Given the description of an element on the screen output the (x, y) to click on. 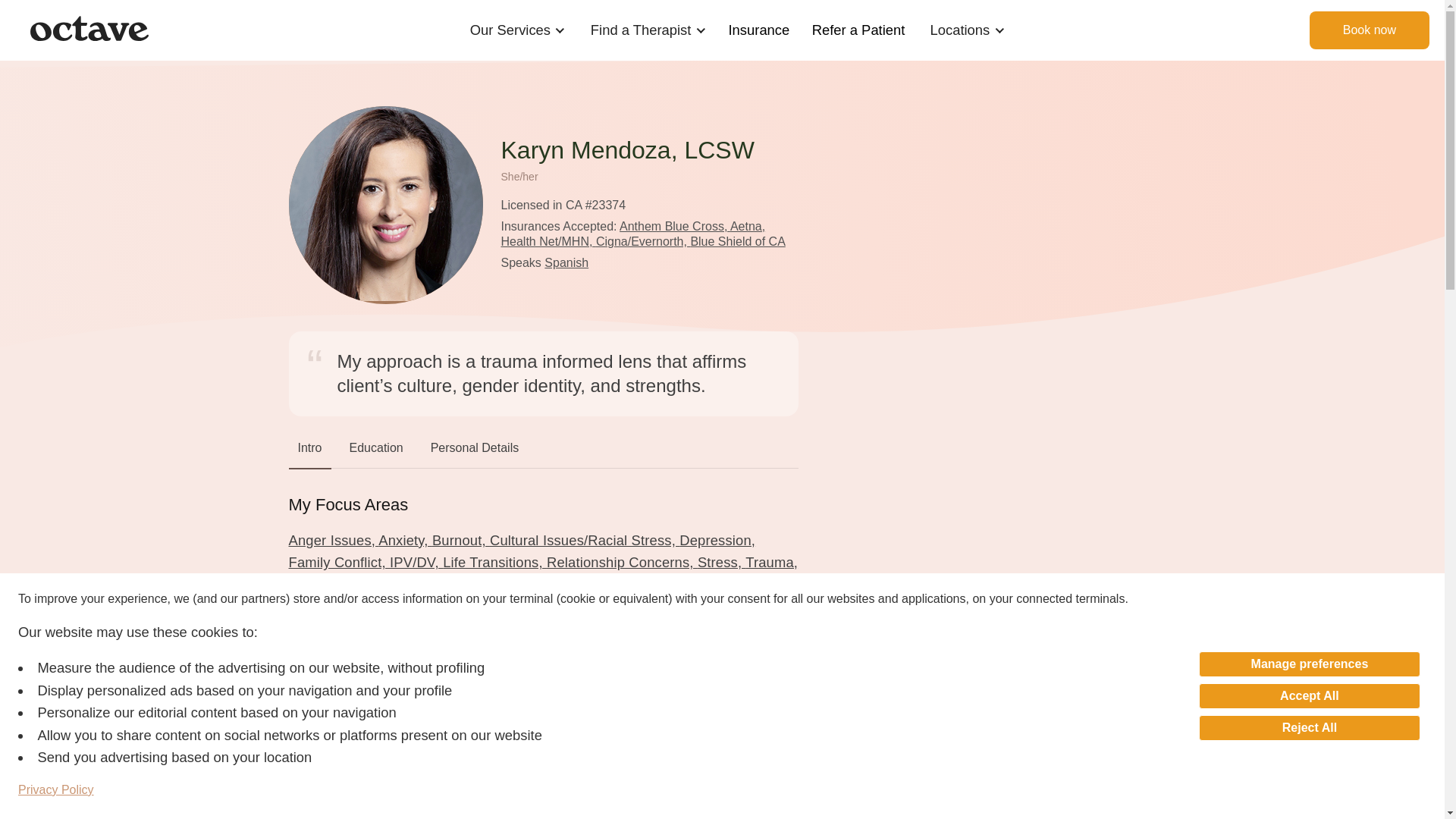
Burnout, (460, 539)
Anger Issues, (333, 539)
Our Services (509, 29)
Accept All (1309, 696)
Education (376, 450)
Find a Therapist (640, 29)
Reject All (1309, 727)
Insurance (758, 29)
Anxiety, (405, 539)
Stress, (721, 562)
